Given the description of an element on the screen output the (x, y) to click on. 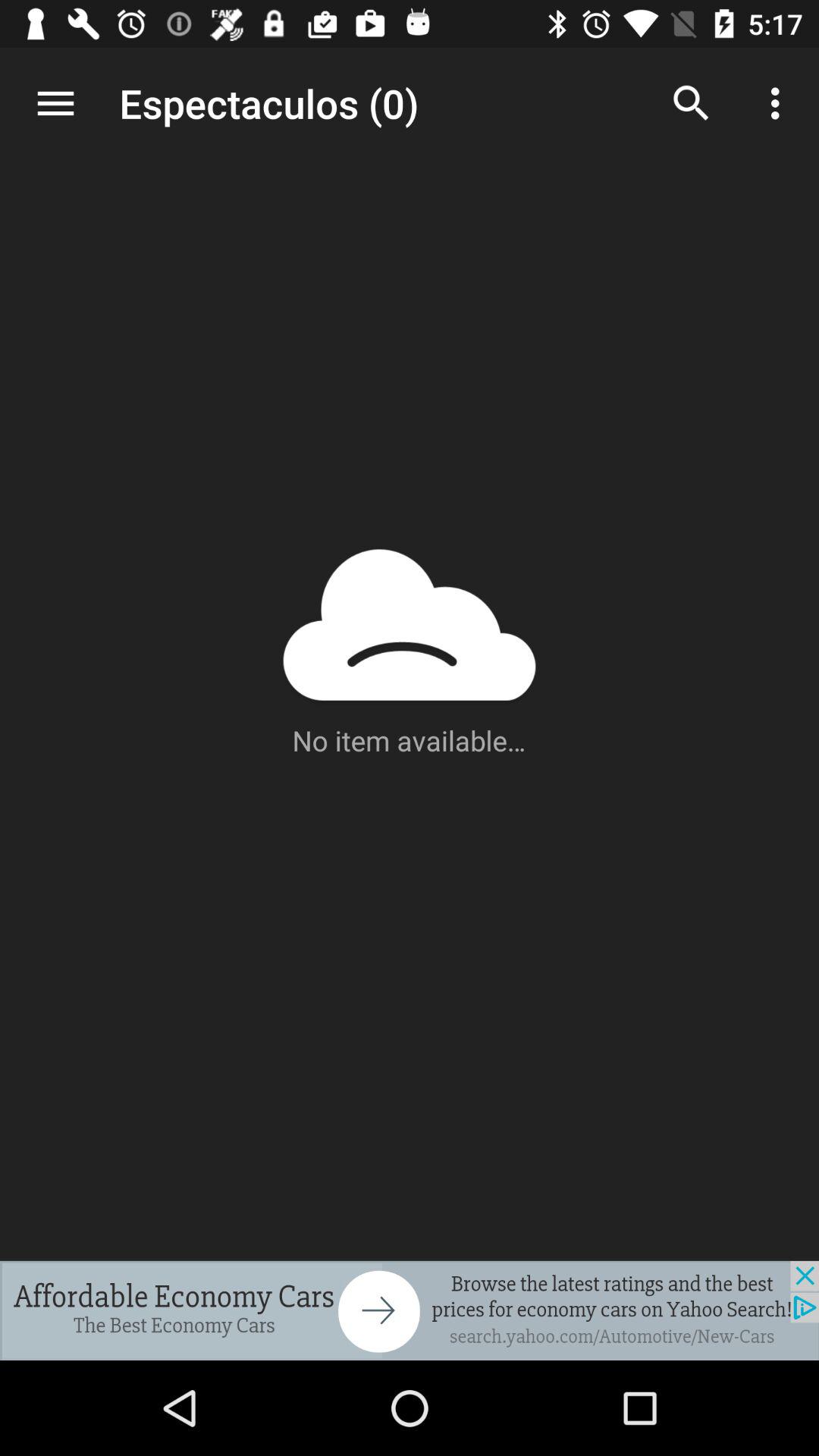
opens advertisement (409, 1310)
